Given the description of an element on the screen output the (x, y) to click on. 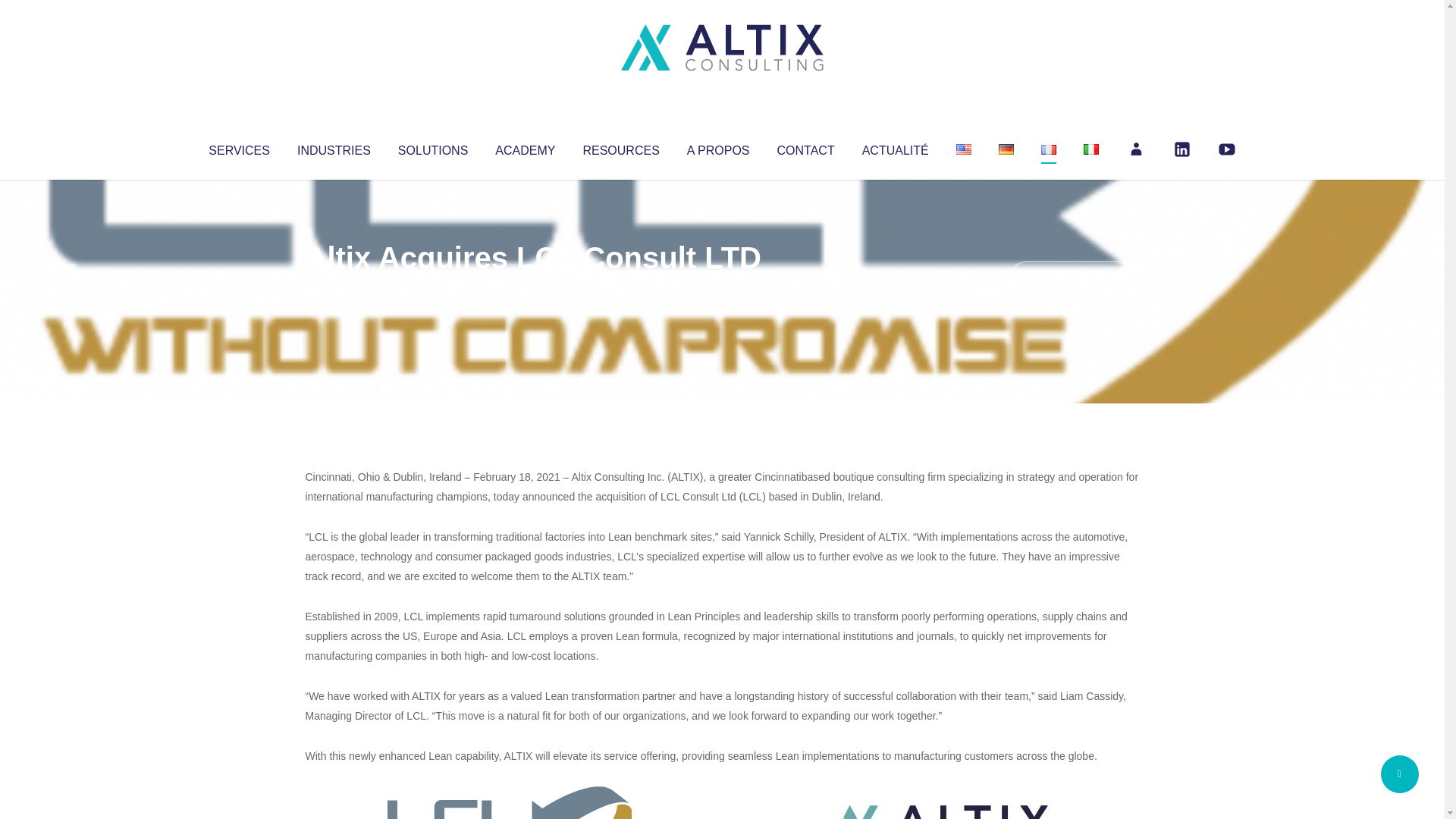
SERVICES (238, 146)
RESOURCES (620, 146)
Uncategorized (530, 287)
A PROPOS (718, 146)
SOLUTIONS (432, 146)
No Comments (1073, 278)
Altix (333, 287)
INDUSTRIES (334, 146)
ACADEMY (524, 146)
Articles par Altix (333, 287)
